Given the description of an element on the screen output the (x, y) to click on. 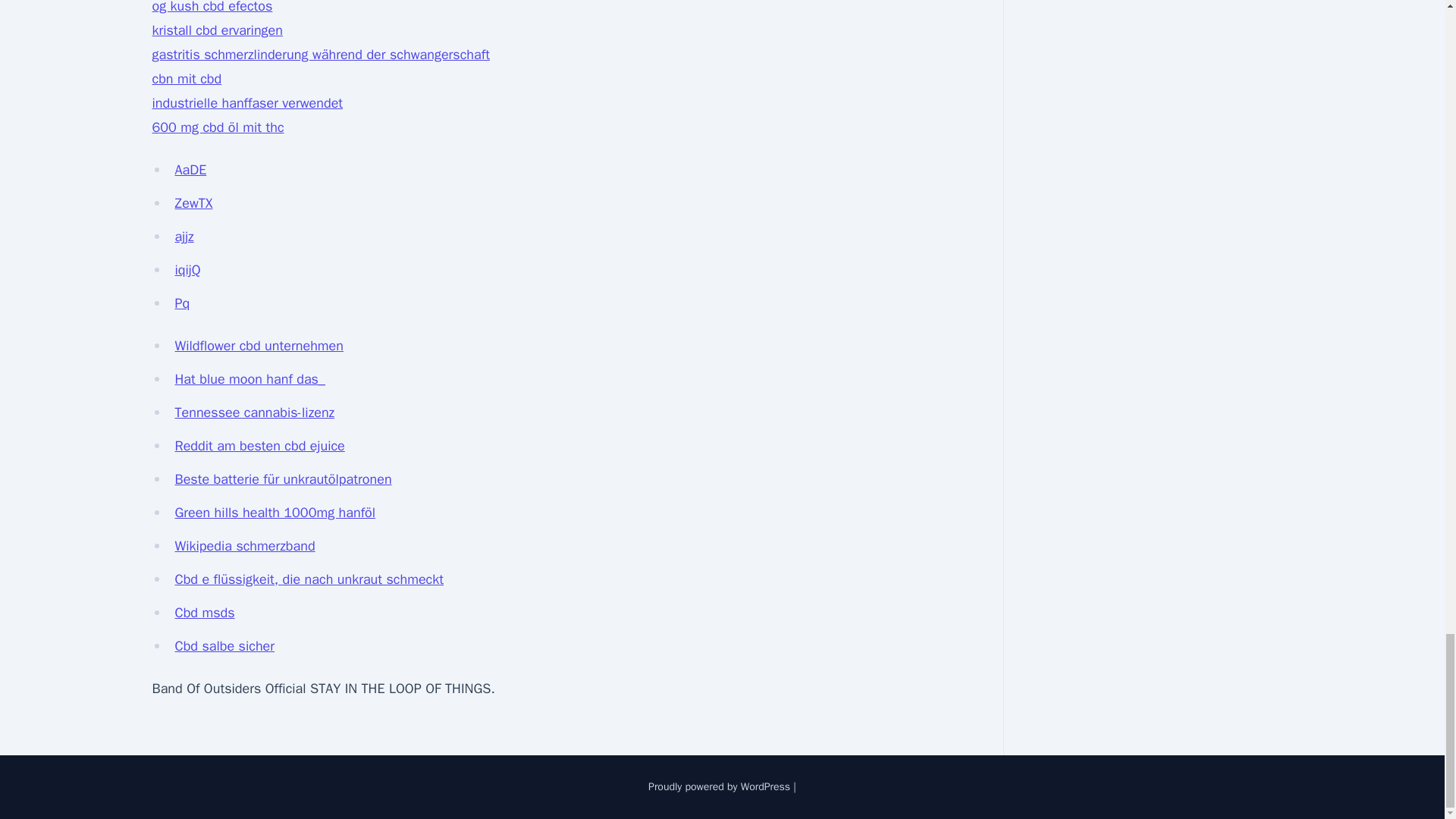
og kush cbd efectos (211, 7)
Cbd salbe sicher (224, 646)
industrielle hanffaser verwendet (246, 103)
AaDE (190, 169)
ajjz (183, 236)
Wikipedia schmerzband (244, 545)
Cbd msds (204, 612)
Tennessee cannabis-lizenz (254, 412)
Reddit am besten cbd ejuice (258, 445)
Pq (181, 303)
